Given the description of an element on the screen output the (x, y) to click on. 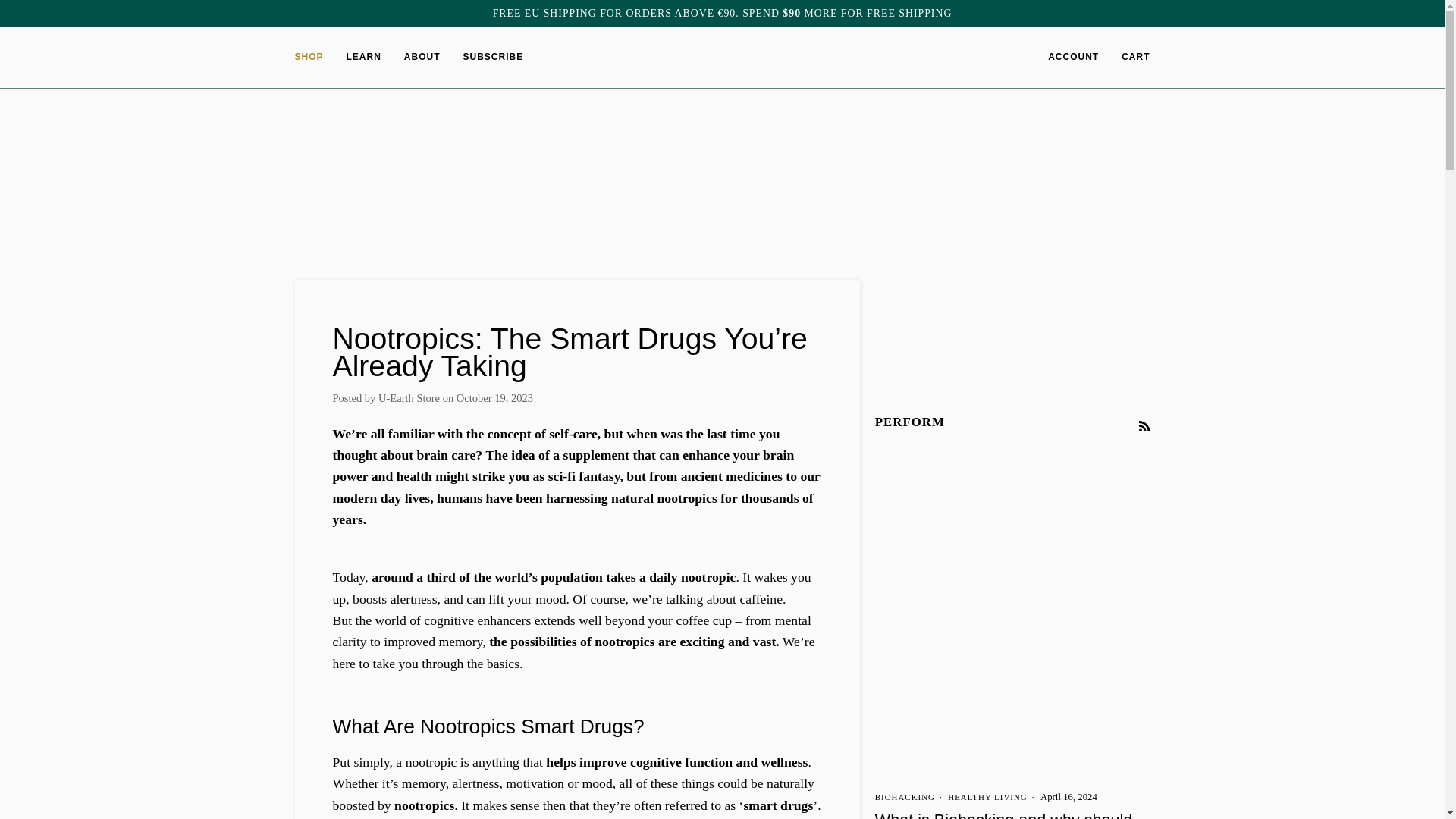
SHOP (314, 57)
U-Earth Store RSS (1144, 425)
LEARN (363, 57)
